Given the description of an element on the screen output the (x, y) to click on. 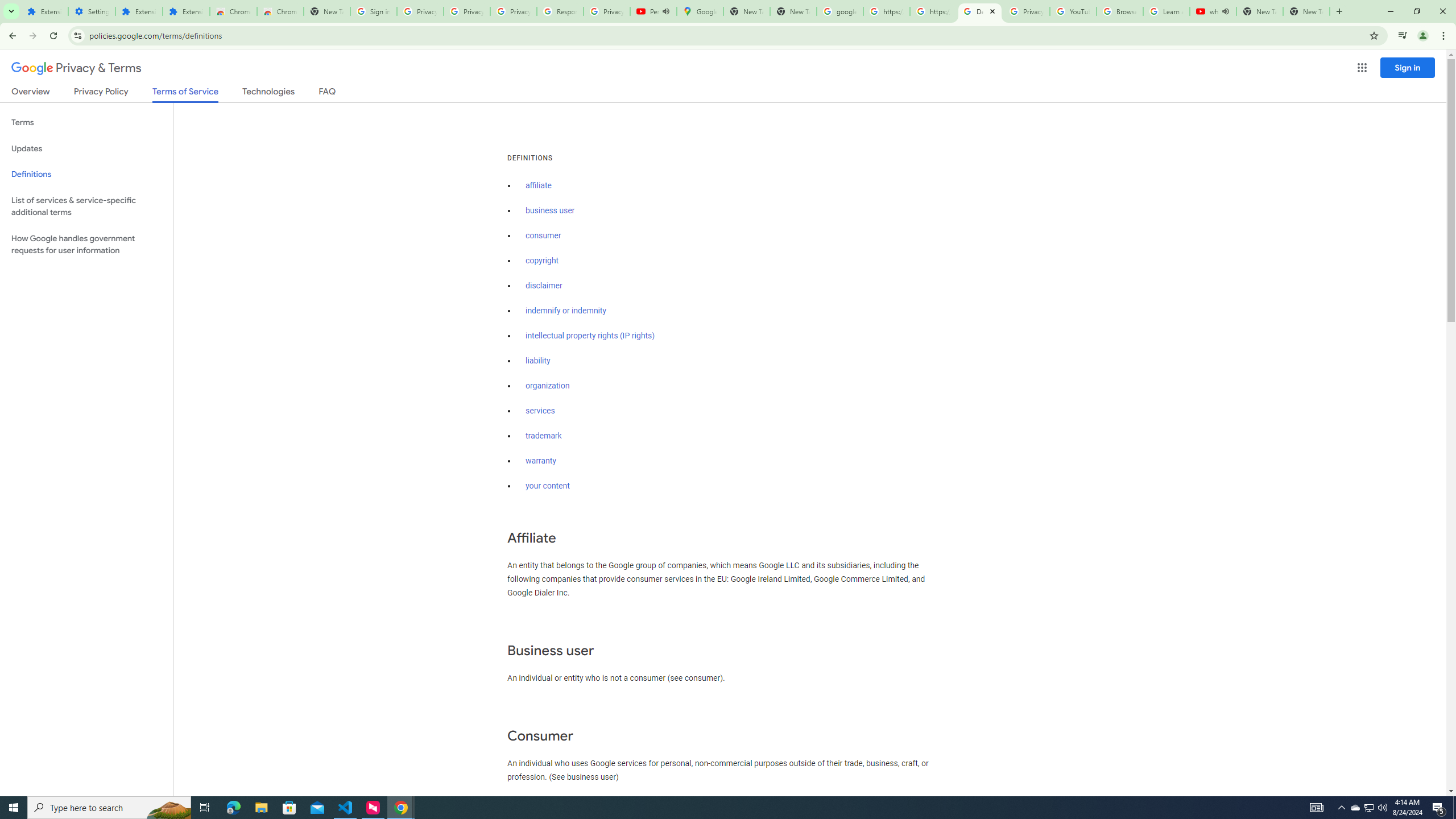
Extensions (138, 11)
warranty (540, 461)
YouTube (1073, 11)
trademark (543, 435)
services (539, 411)
